Given the description of an element on the screen output the (x, y) to click on. 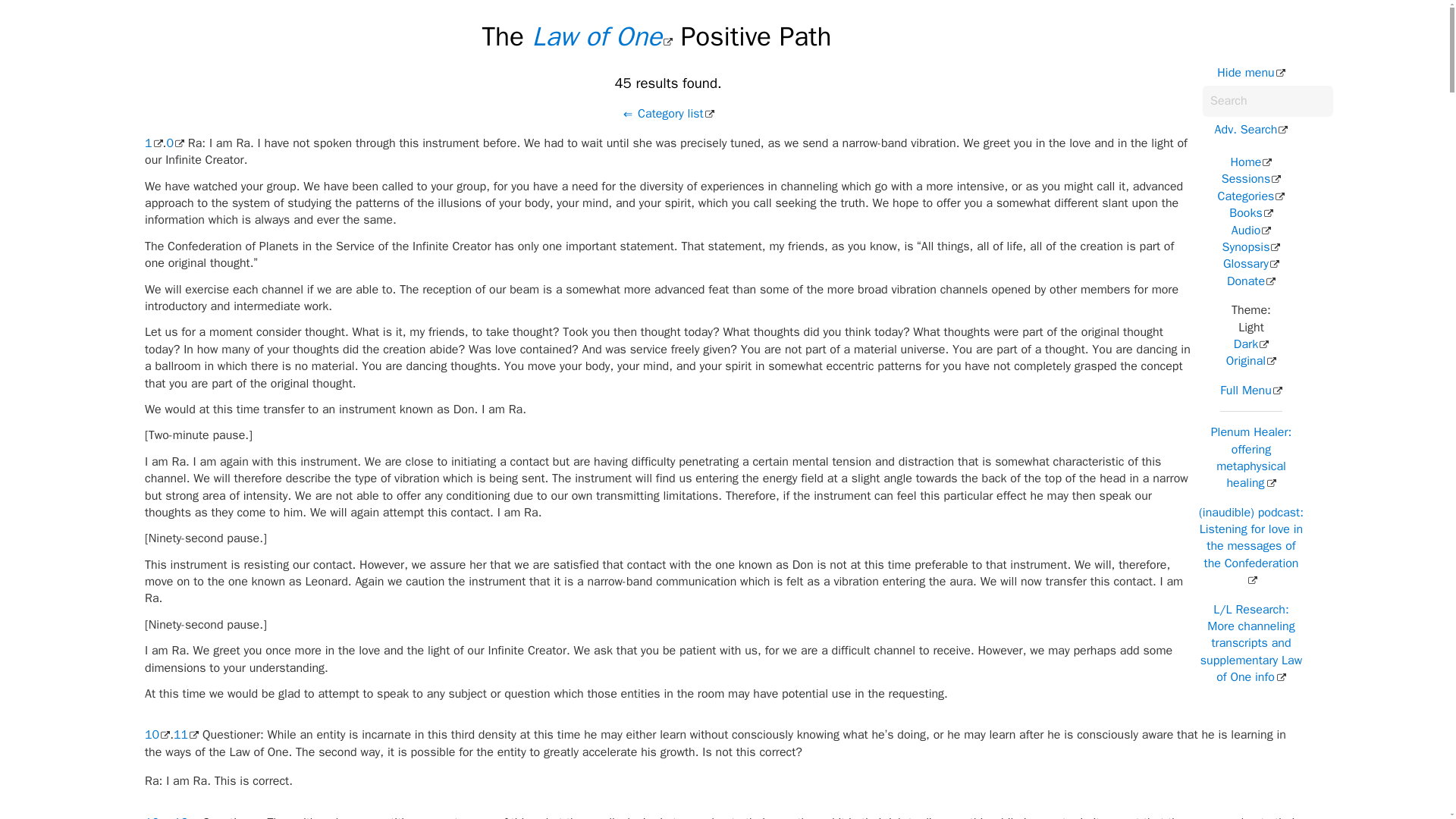
12 (185, 816)
Law of One (602, 36)
1 (153, 142)
0 (174, 142)
10 (157, 734)
10 (157, 816)
11 (185, 734)
